Given the description of an element on the screen output the (x, y) to click on. 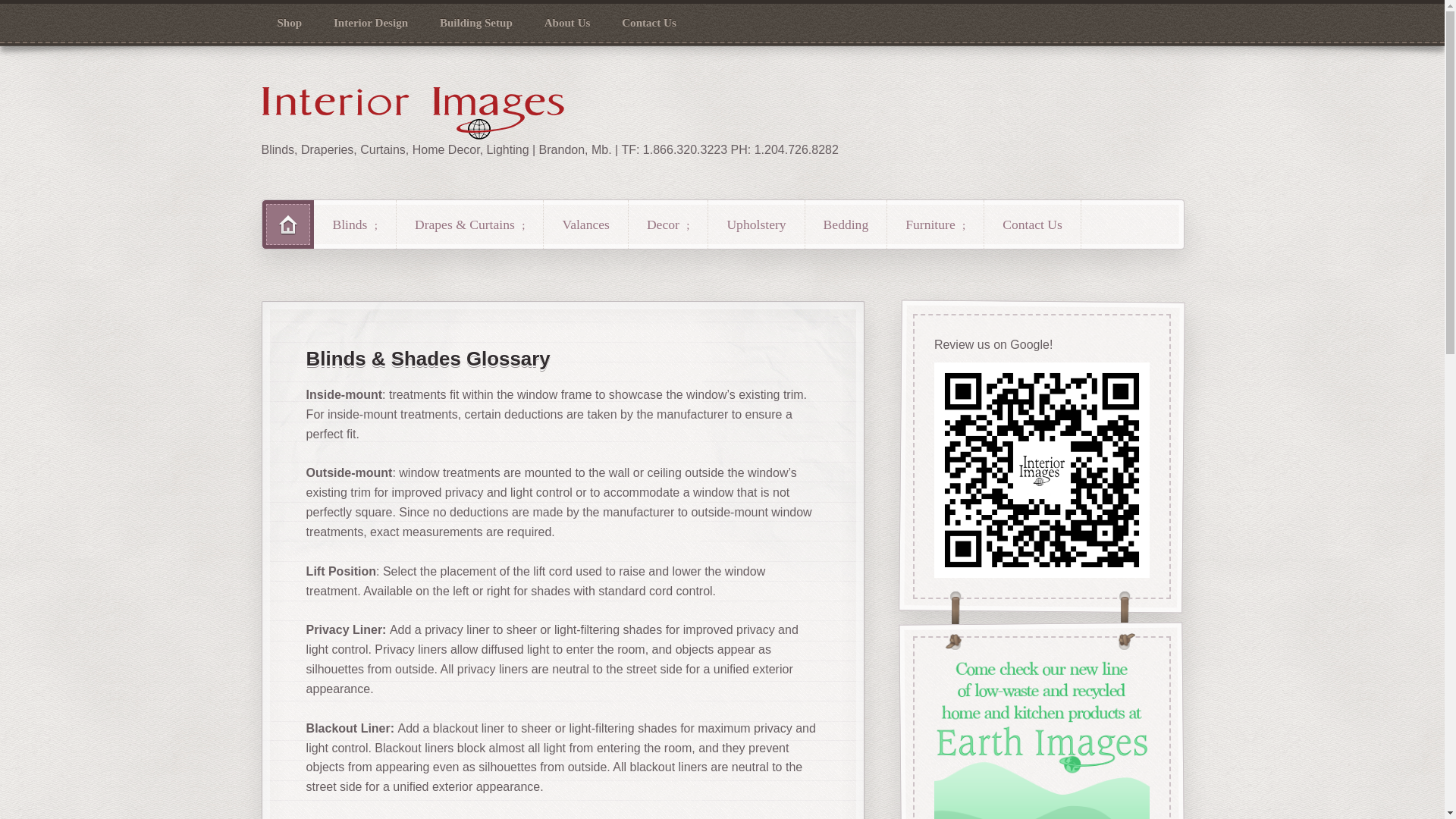
Shop (290, 22)
Decor (667, 223)
Blinds (354, 223)
Bedding (845, 223)
Valances (585, 223)
Building Setup (475, 22)
About Us (567, 22)
Interior Design (370, 22)
Contact Us (1032, 223)
Furniture (935, 223)
Contact Us (648, 22)
Home (288, 223)
Upholstery (755, 223)
